Given the description of an element on the screen output the (x, y) to click on. 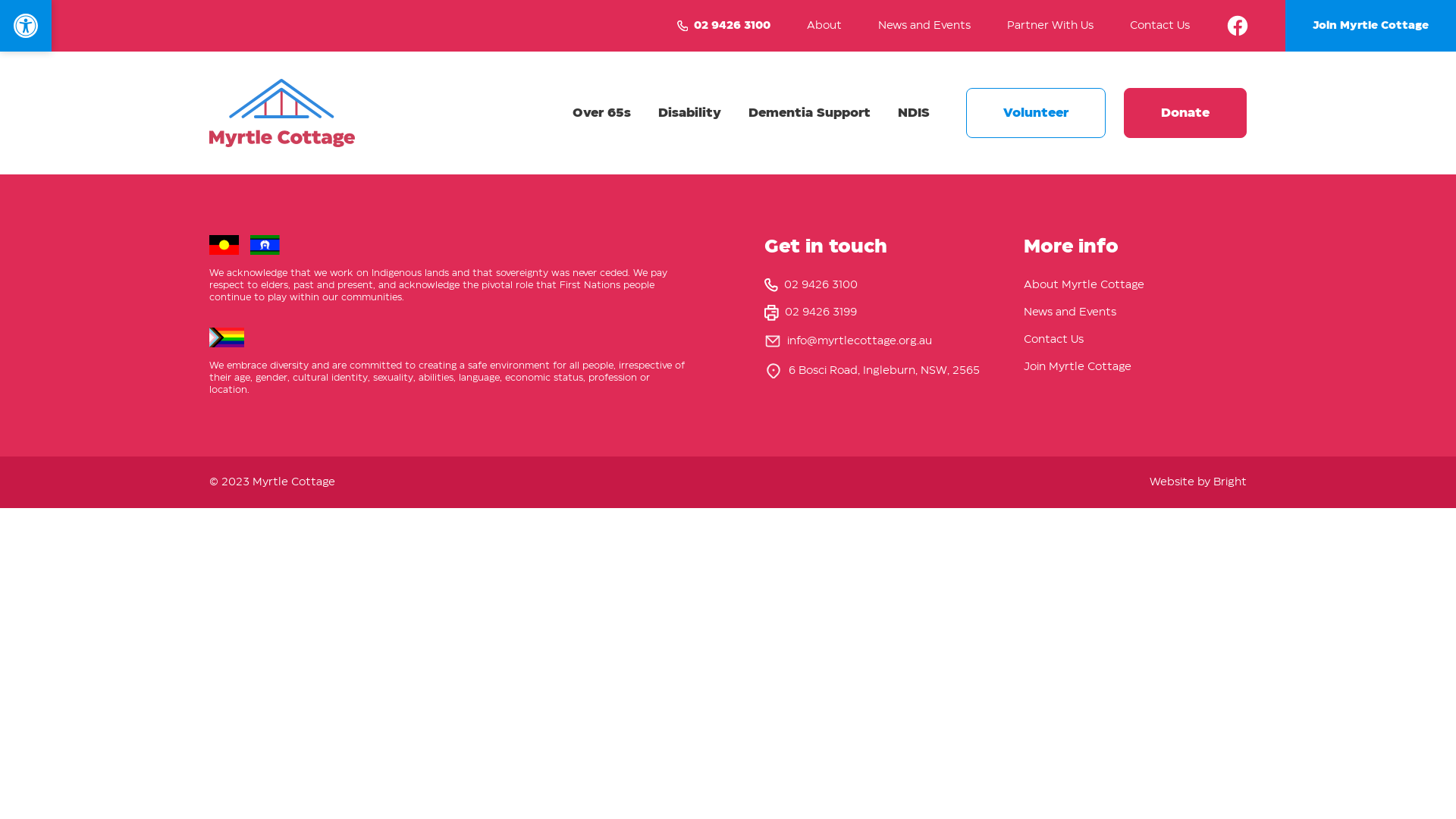
Dementia Support Element type: text (809, 112)
Disability Element type: text (689, 112)
02 9426 3100 Element type: text (875, 284)
News and Events Element type: text (1069, 312)
About Element type: text (823, 25)
Volunteer Element type: text (1035, 112)
About Myrtle Cottage Element type: text (1083, 284)
NDIS Element type: text (913, 112)
Over 65s Element type: text (601, 112)
02 9426 3100 Element type: text (723, 25)
Contact Us Element type: text (1053, 339)
Open toolbar Element type: text (25, 25)
info@myrtlecottage.org.au Element type: text (859, 340)
Contact Us Element type: text (1159, 25)
Donate Element type: text (1184, 112)
Bright Element type: text (1229, 481)
News and Events Element type: text (924, 25)
Join Myrtle Cottage Element type: text (1077, 366)
Partner With Us Element type: text (1050, 25)
